Given the description of an element on the screen output the (x, y) to click on. 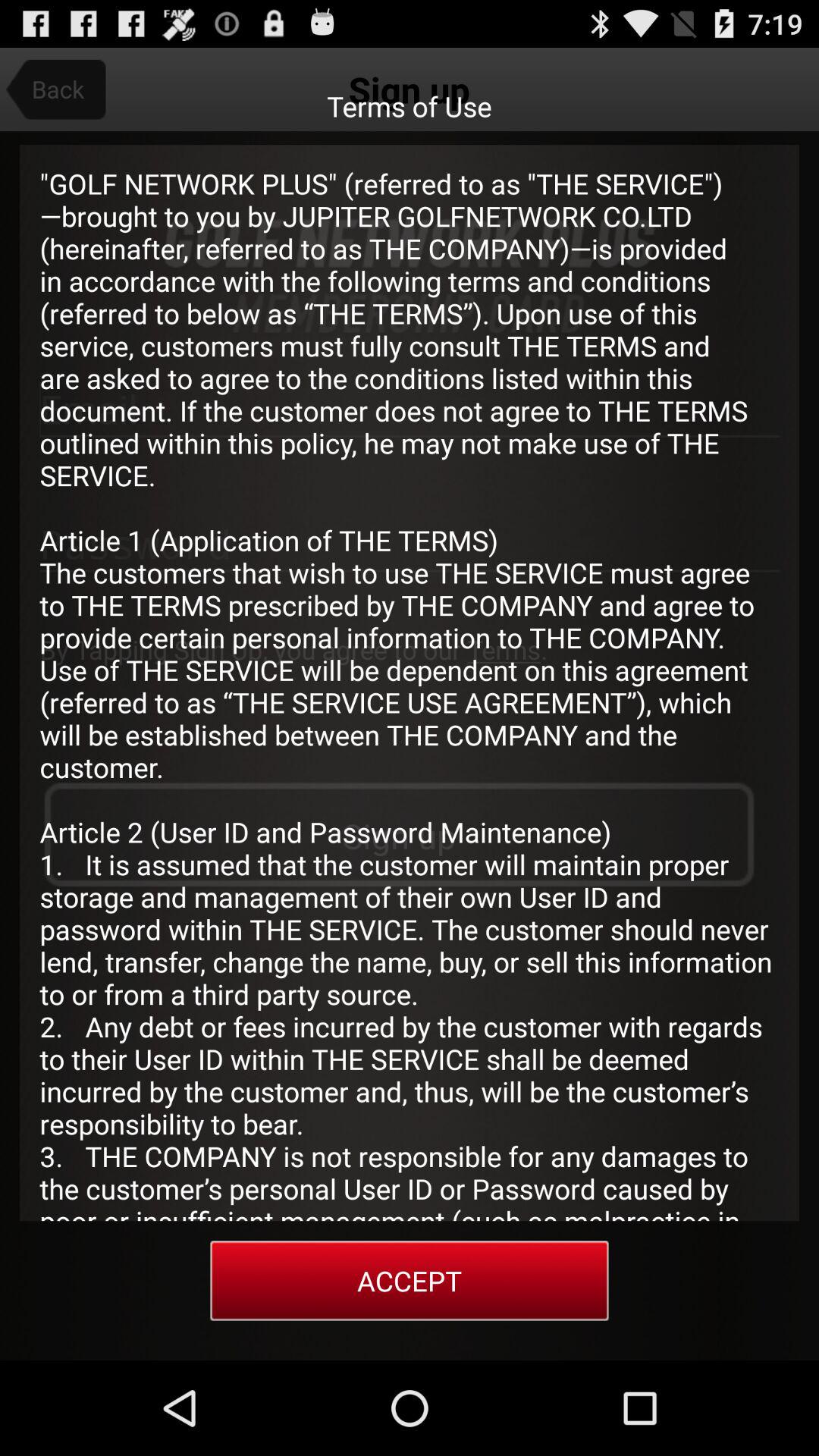
click accept item (409, 1280)
